Given the description of an element on the screen output the (x, y) to click on. 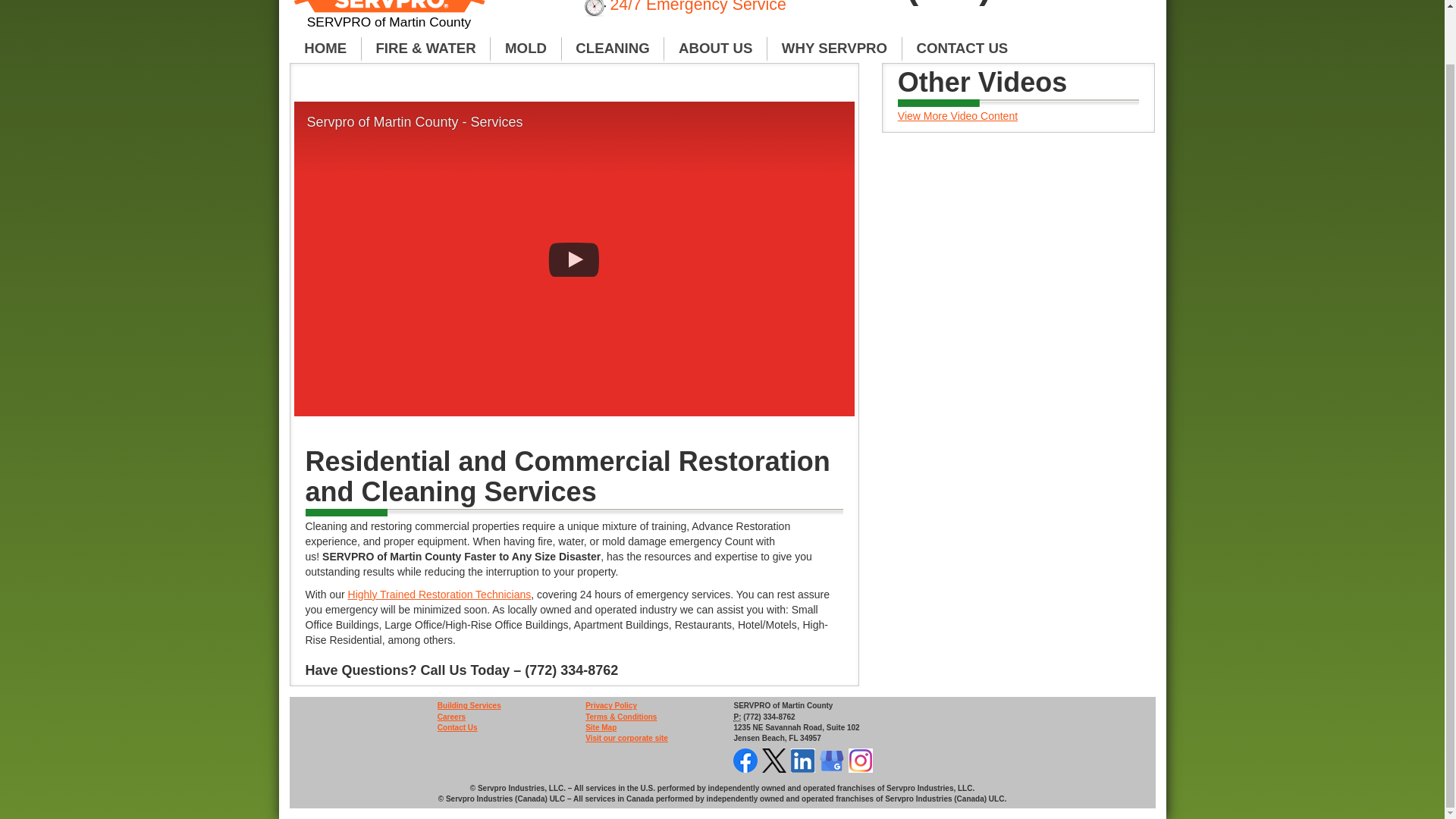
ABOUT US (715, 48)
MOLD (525, 48)
HOME (325, 48)
SERVPRO of Martin County (389, 14)
CLEANING (613, 48)
